Given the description of an element on the screen output the (x, y) to click on. 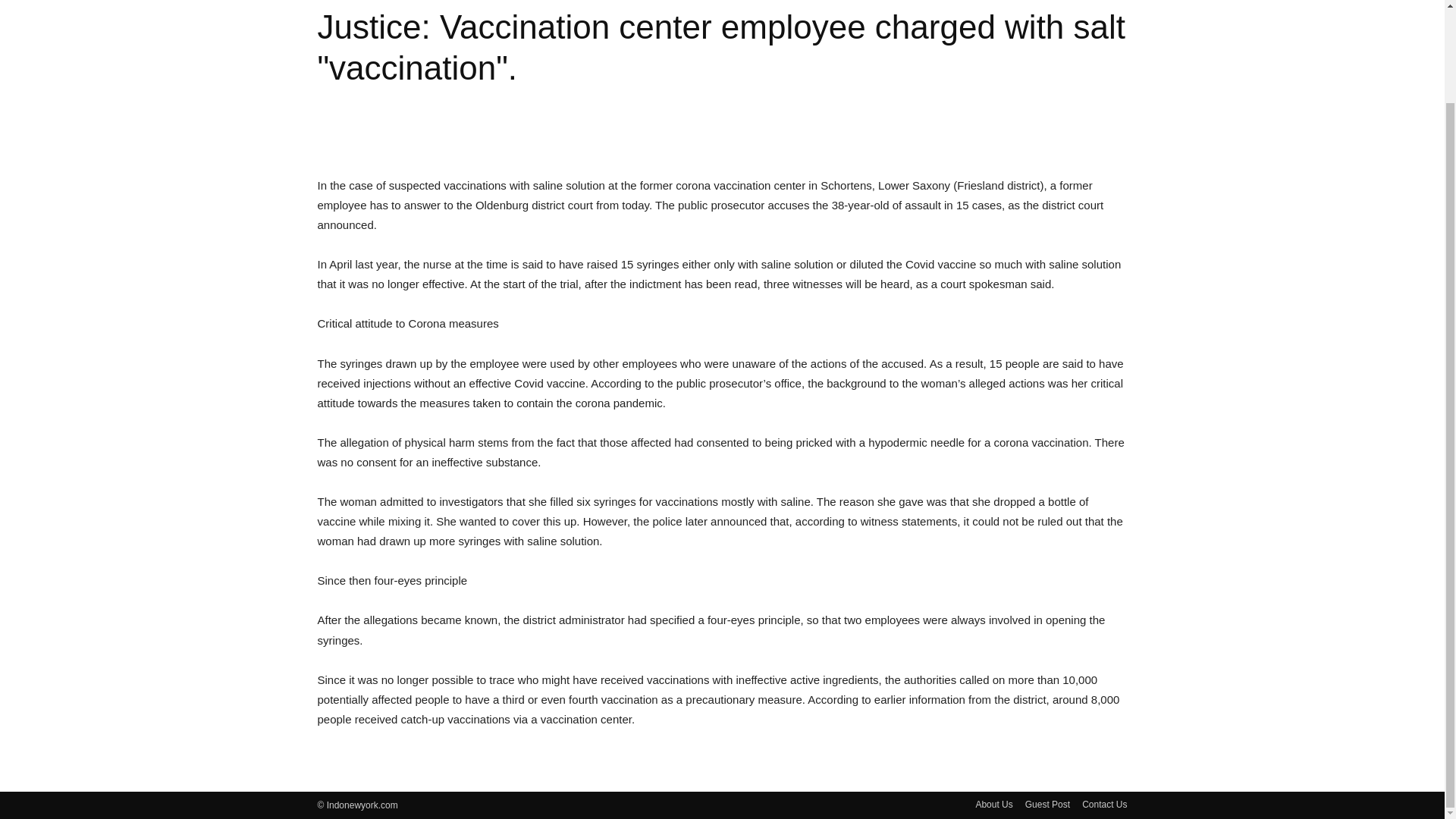
Guest Post (1047, 804)
About Us (993, 804)
Contact Us (1103, 804)
